Given the description of an element on the screen output the (x, y) to click on. 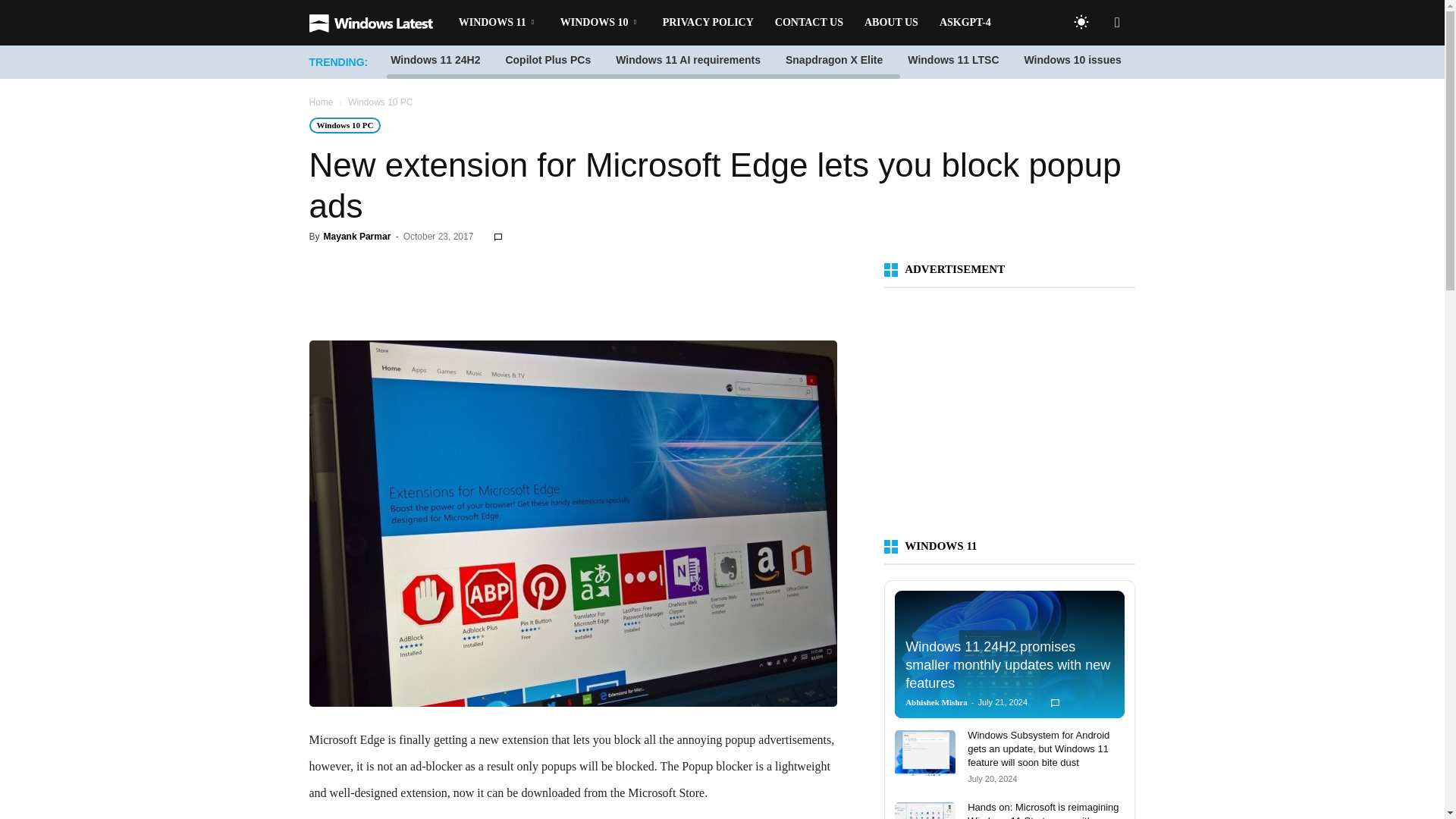
Windows Latest (378, 22)
WINDOWS 11 (499, 22)
WINDOWS 10 (601, 22)
